Given the description of an element on the screen output the (x, y) to click on. 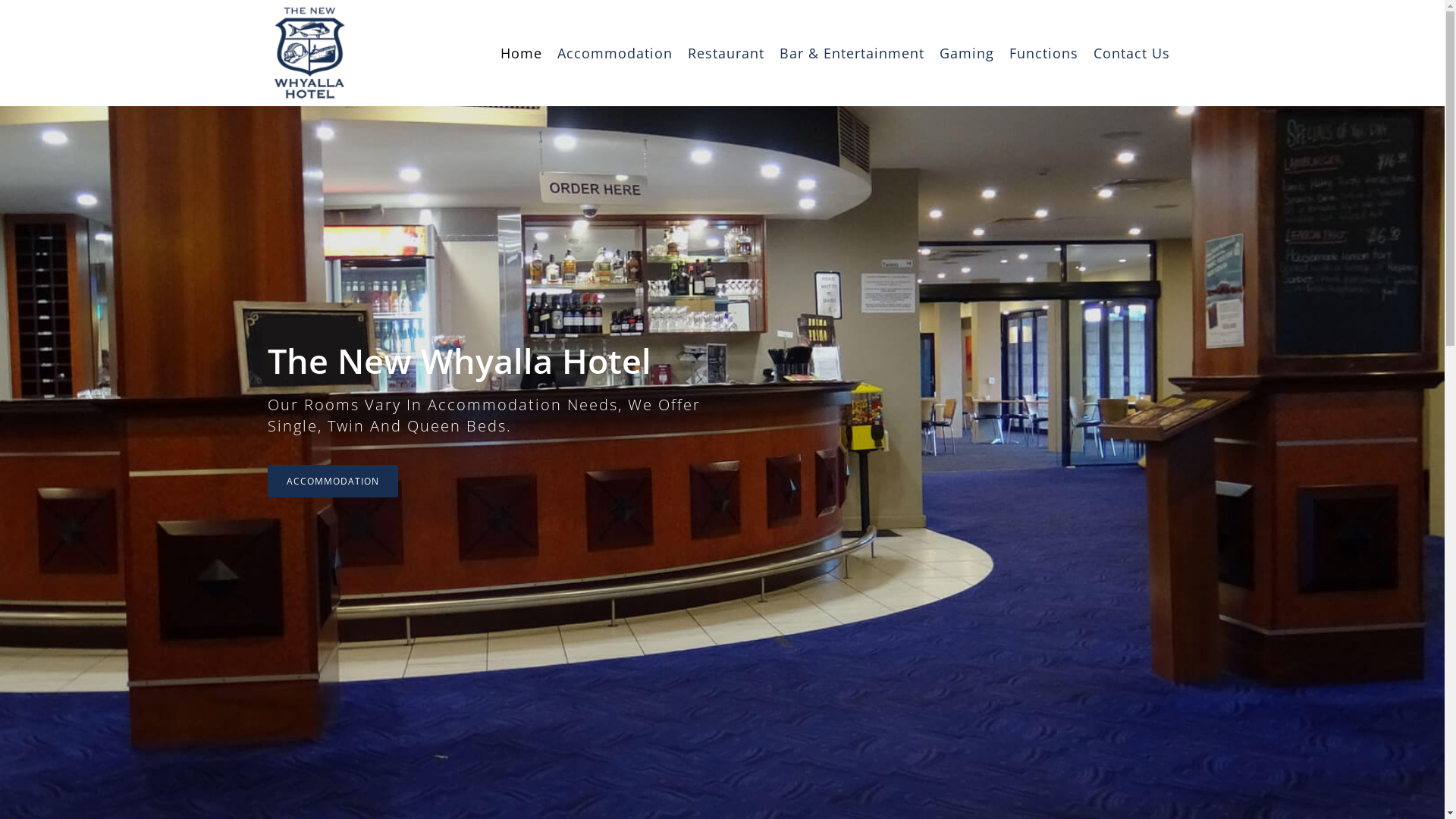
Restaurant Element type: text (725, 53)
Functions Element type: text (1043, 53)
ACCOMMODATION Element type: text (331, 480)
Hotel Richmond Element type: text (806, 799)
(08) 8645 8955 Element type: text (745, 630)
Home Element type: text (520, 53)
Accommodation Element type: text (614, 53)
Pier Hotel Element type: text (708, 799)
Contact Us Element type: text (1131, 53)
Bar & Entertainment Element type: text (851, 53)
Gaming Element type: text (966, 53)
